Given the description of an element on the screen output the (x, y) to click on. 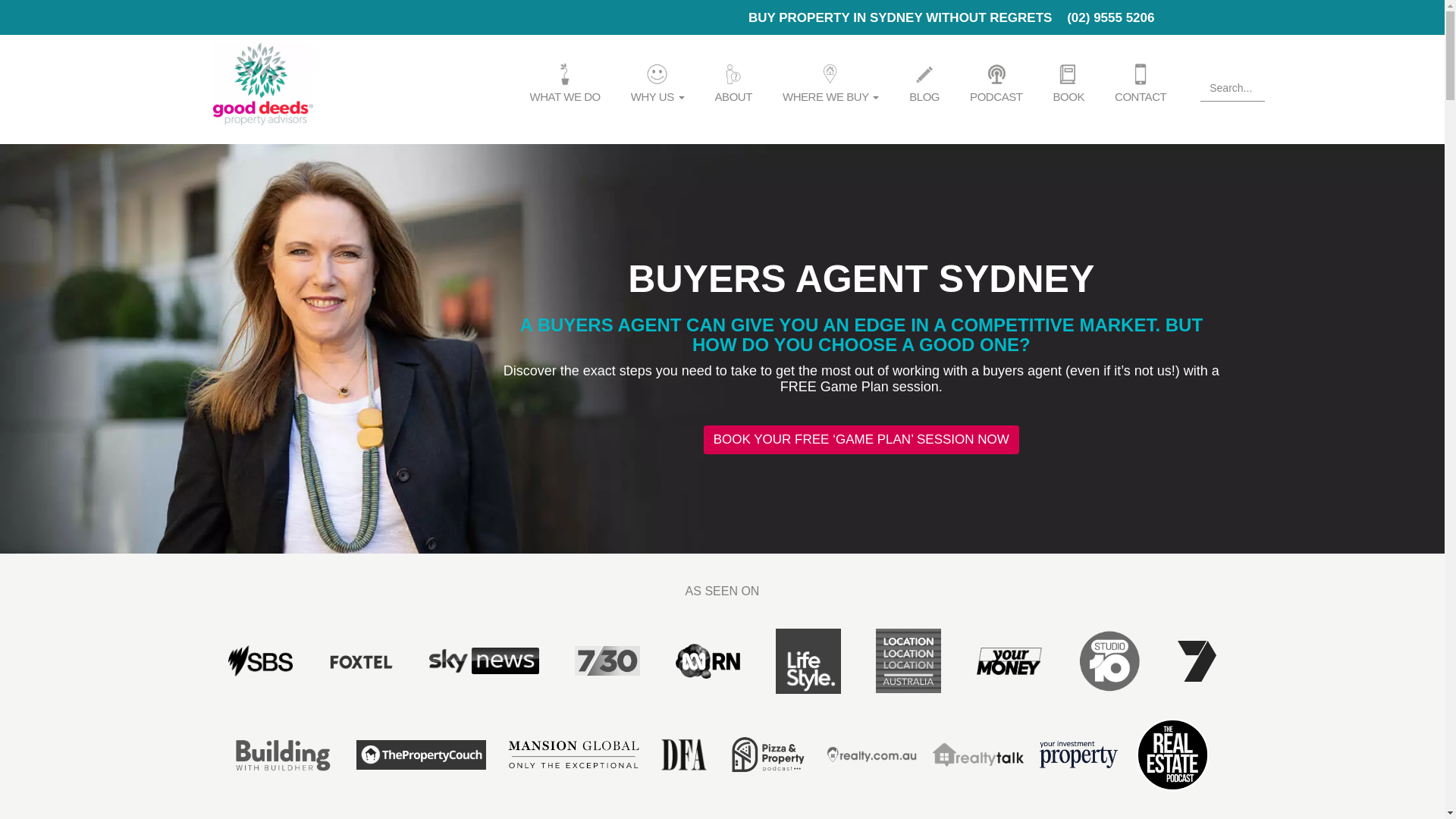
ABOUT Element type: text (733, 83)
WHAT WE DO Element type: text (564, 83)
WHERE WE BUY Element type: text (830, 83)
PODCAST Element type: text (995, 83)
BOOK Element type: text (1068, 83)
BLOG Element type: text (924, 83)
WHY US Element type: text (657, 83)
(02) 9555 5206 Element type: text (1110, 17)
CONTACT Element type: text (1140, 83)
